Given the description of an element on the screen output the (x, y) to click on. 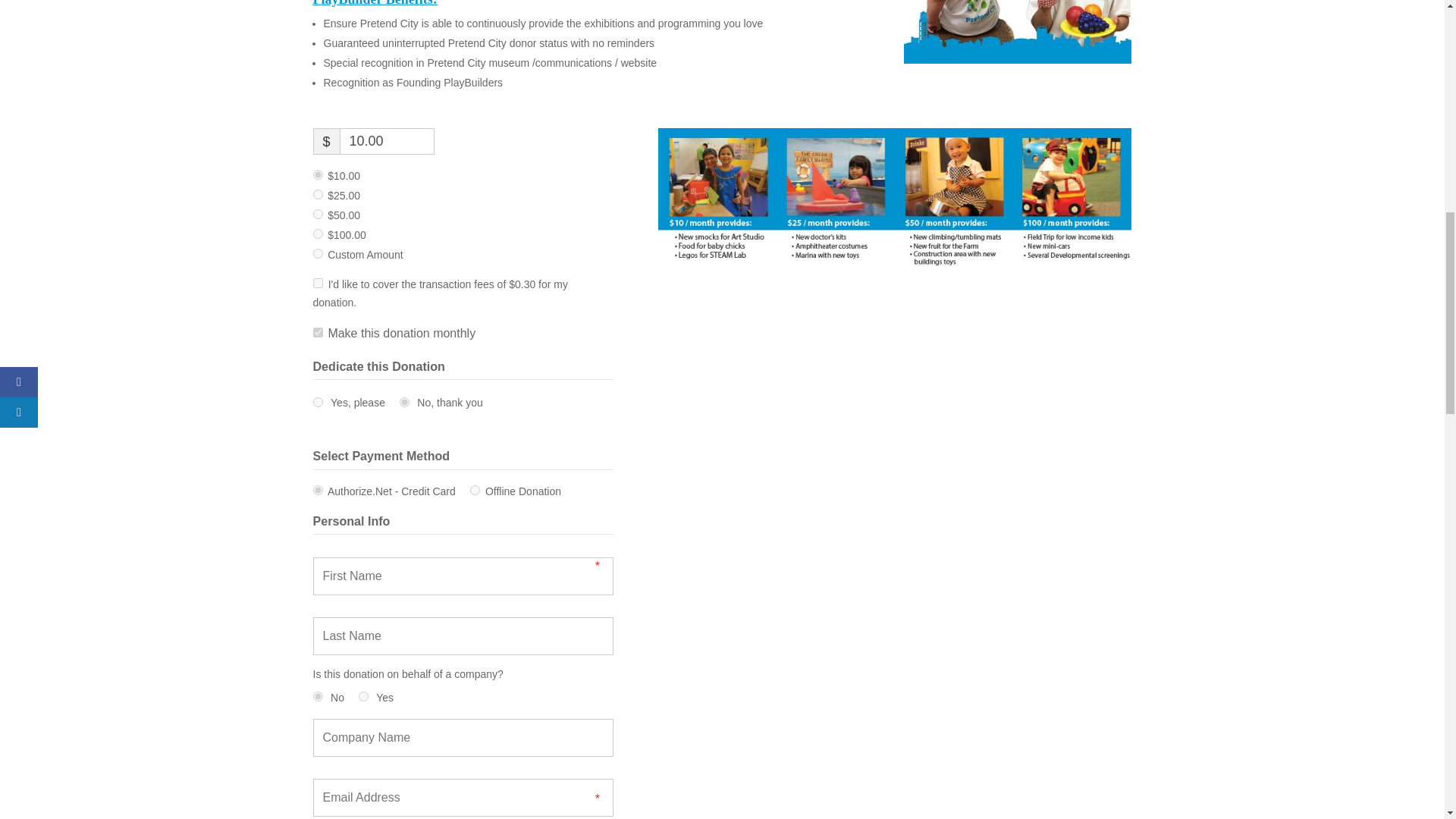
offline (475, 490)
custom (317, 253)
1 (317, 283)
no (403, 402)
25.00 (317, 194)
100.00 (317, 234)
no (317, 696)
authorize (317, 490)
10.00 (317, 174)
yes (363, 696)
10.00 (386, 140)
on (317, 332)
50.00 (317, 214)
yes (317, 402)
